Given the description of an element on the screen output the (x, y) to click on. 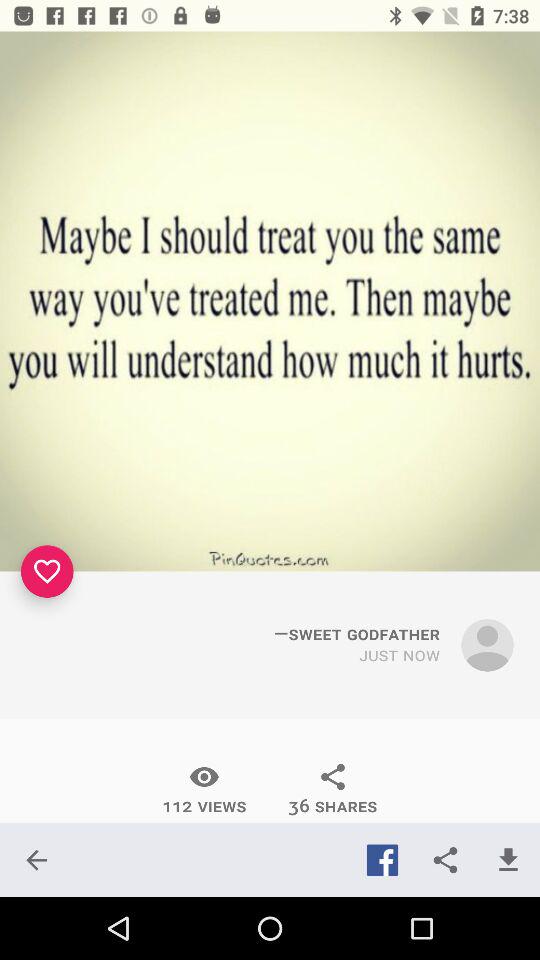
launch the icon to the right of the 112 views item (332, 789)
